Given the description of an element on the screen output the (x, y) to click on. 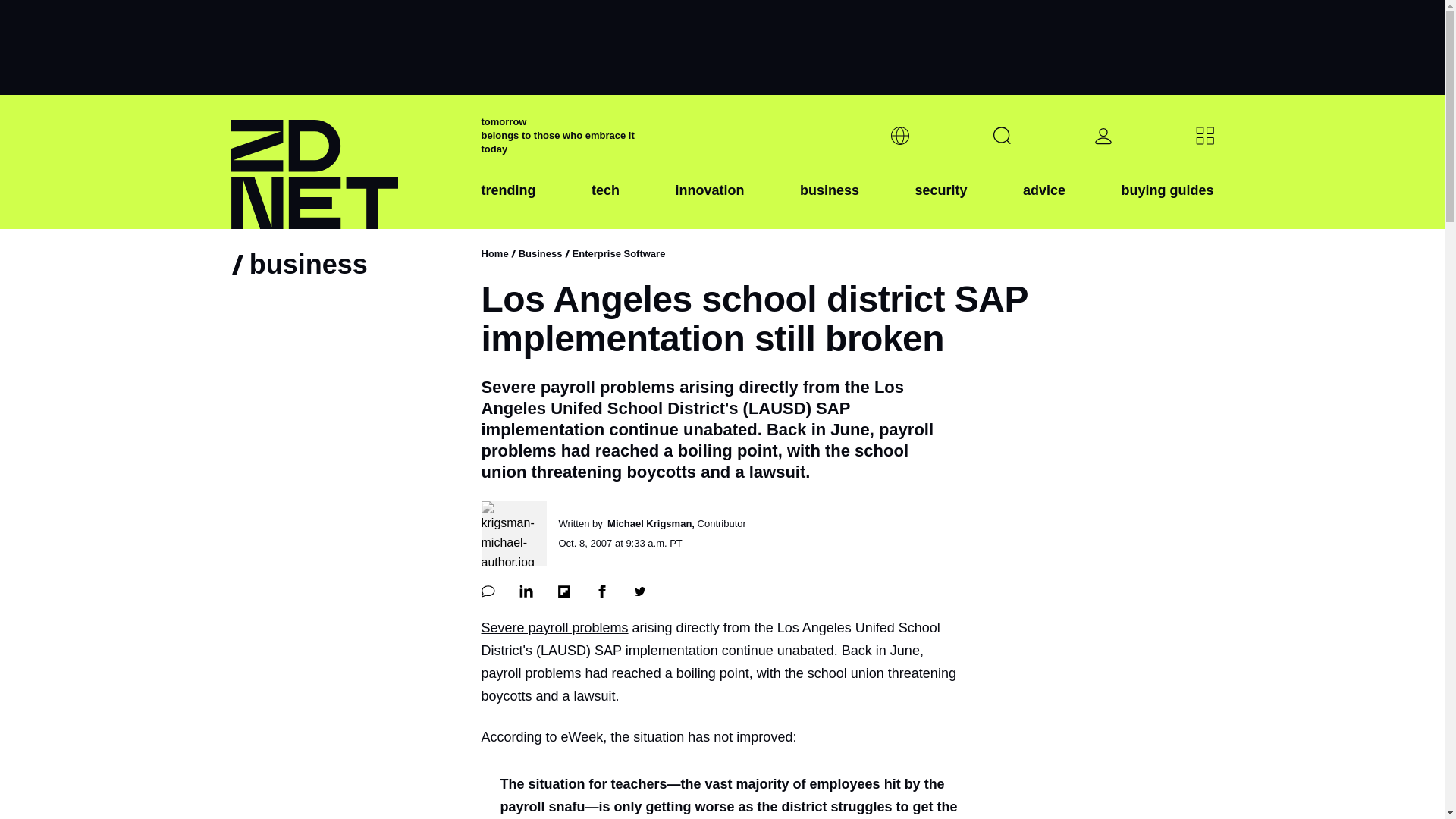
trending (507, 202)
ZDNET (346, 162)
